Given the description of an element on the screen output the (x, y) to click on. 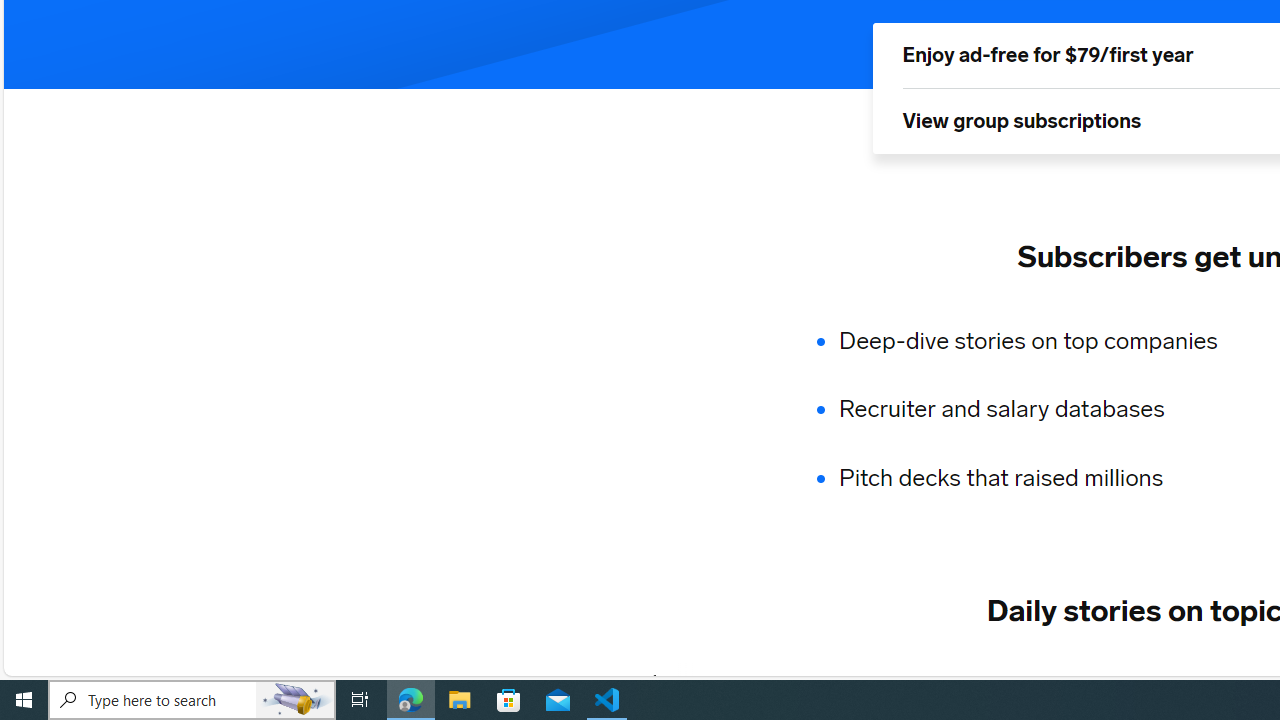
FINANCE (1068, 681)
Pitch decks that raised millions (1040, 478)
TECH (708, 681)
RETAIL (959, 681)
Recruiter and salary databases (1040, 409)
ADVERTISING (830, 681)
Deep-dive stories on top companies (1040, 340)
